Given the description of an element on the screen output the (x, y) to click on. 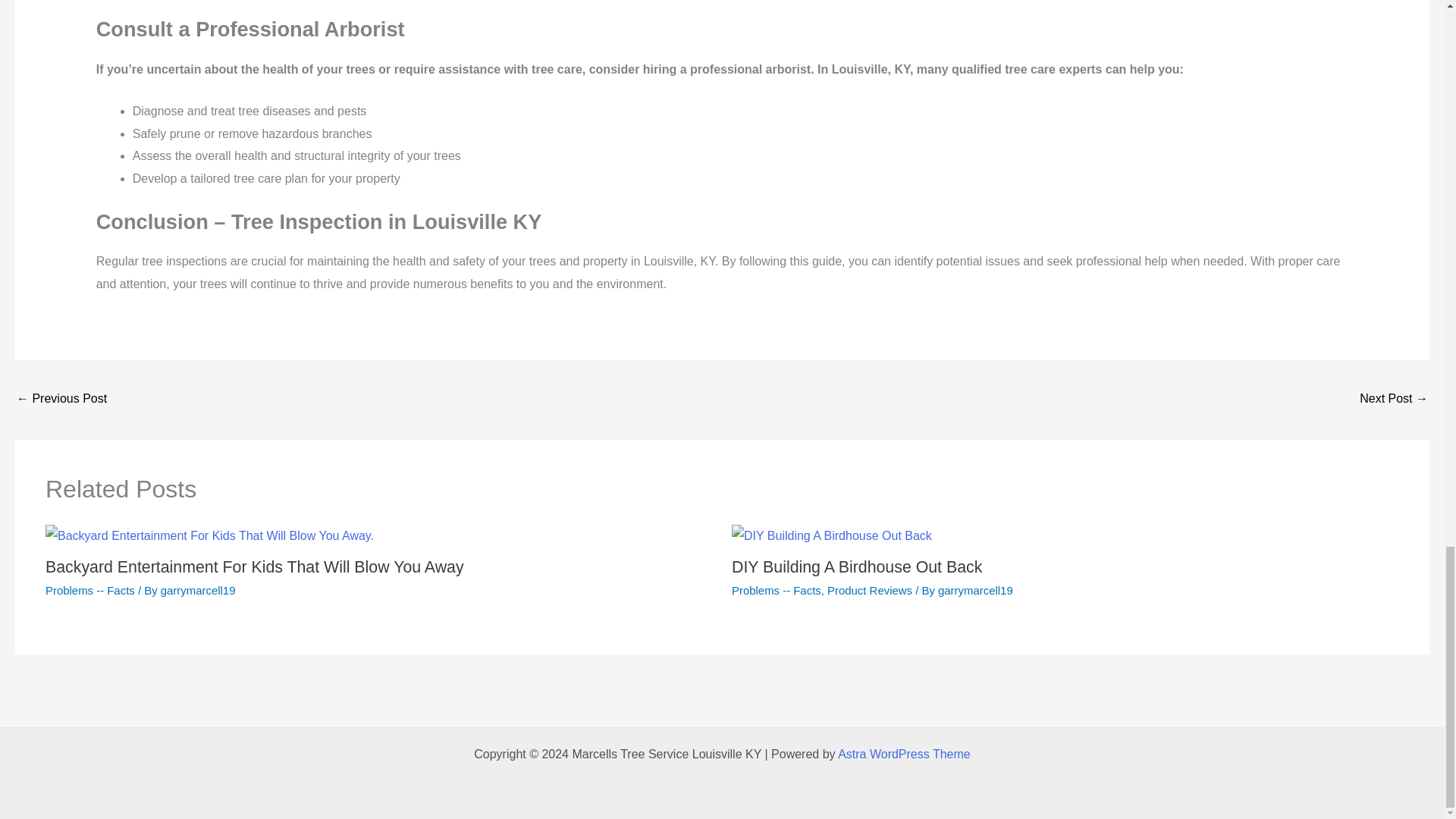
View all posts by garrymarcell19 (197, 590)
View all posts by garrymarcell19 (975, 590)
Tree Evaluation for Health and Risk: A Comprehensive Guide (1393, 399)
Patio Conversation Sets Under 200 Dollars (61, 399)
